Given the description of an element on the screen output the (x, y) to click on. 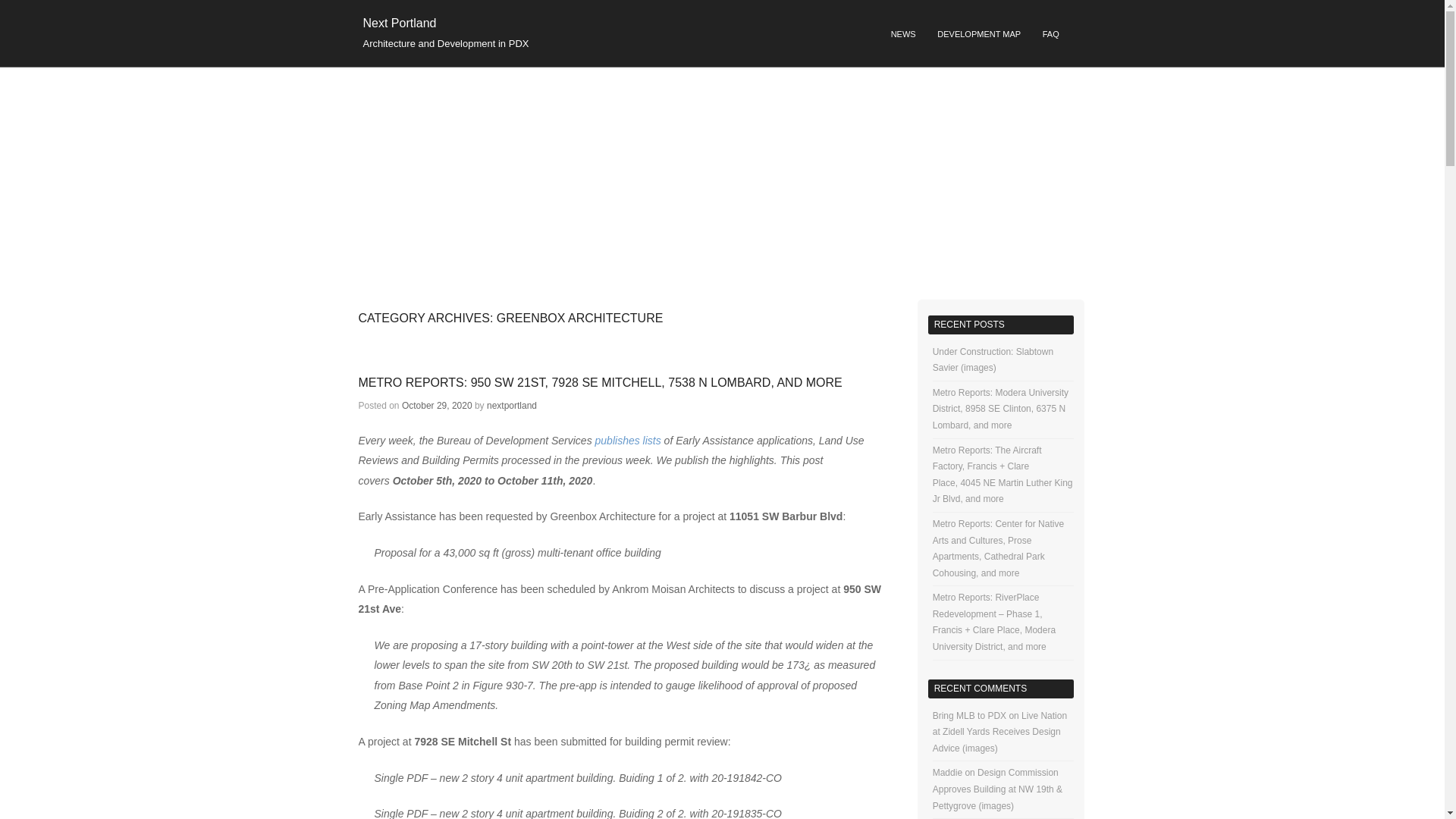
SKIP TO CONTENT (620, 28)
FAQ (1050, 34)
12:55 pm (436, 405)
nextportland (511, 405)
Next Portland (398, 22)
publishes lists (628, 440)
NEWS (903, 34)
October 29, 2020 (436, 405)
Skip to content (620, 28)
DEVELOPMENT MAP (978, 34)
Next Portland (398, 22)
View all posts by nextportland (511, 405)
